Given the description of an element on the screen output the (x, y) to click on. 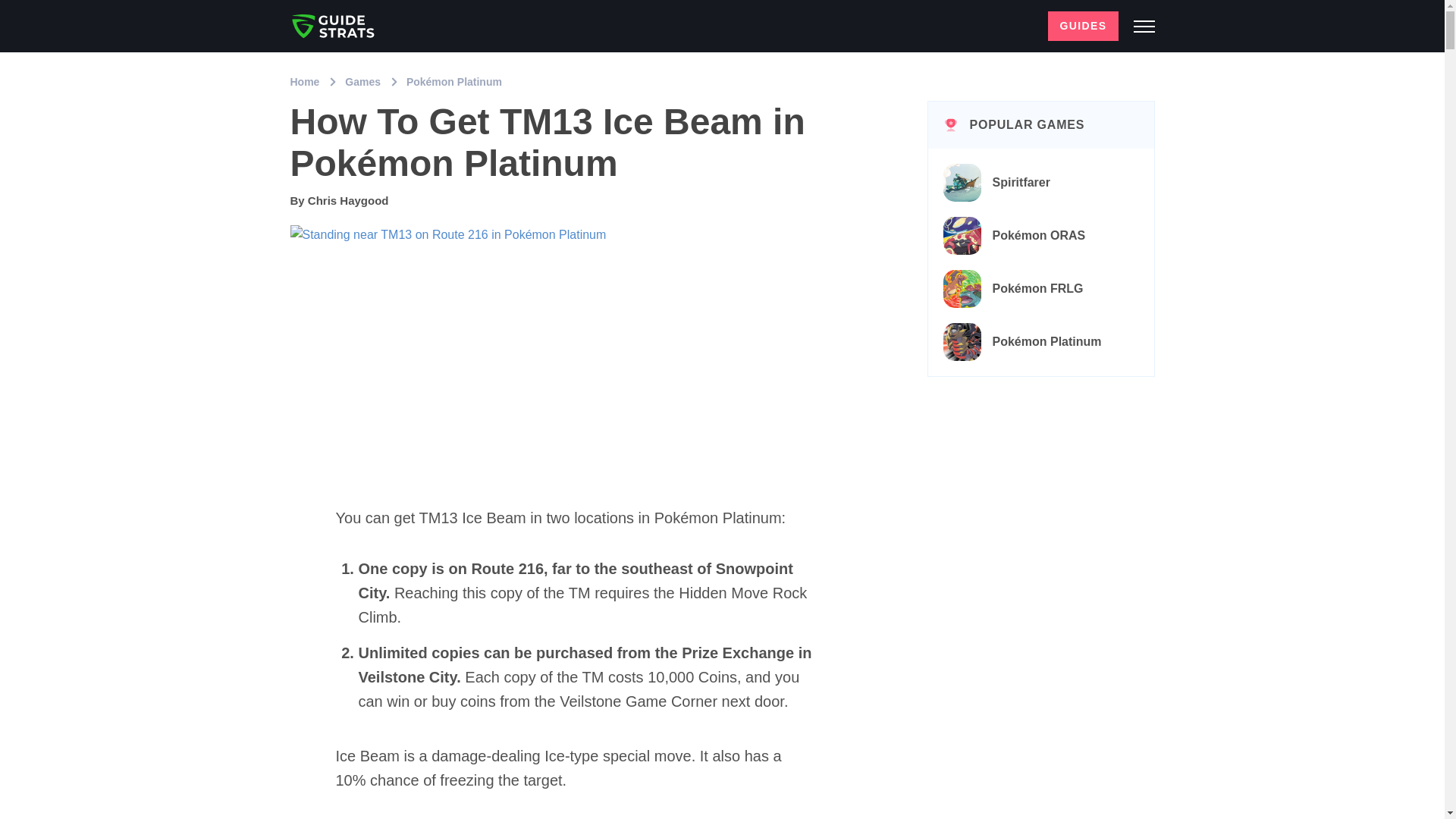
Spiritfarer (1041, 182)
Chris Haygood (347, 200)
GUIDES (1083, 25)
Home (305, 81)
Games (364, 81)
